Given the description of an element on the screen output the (x, y) to click on. 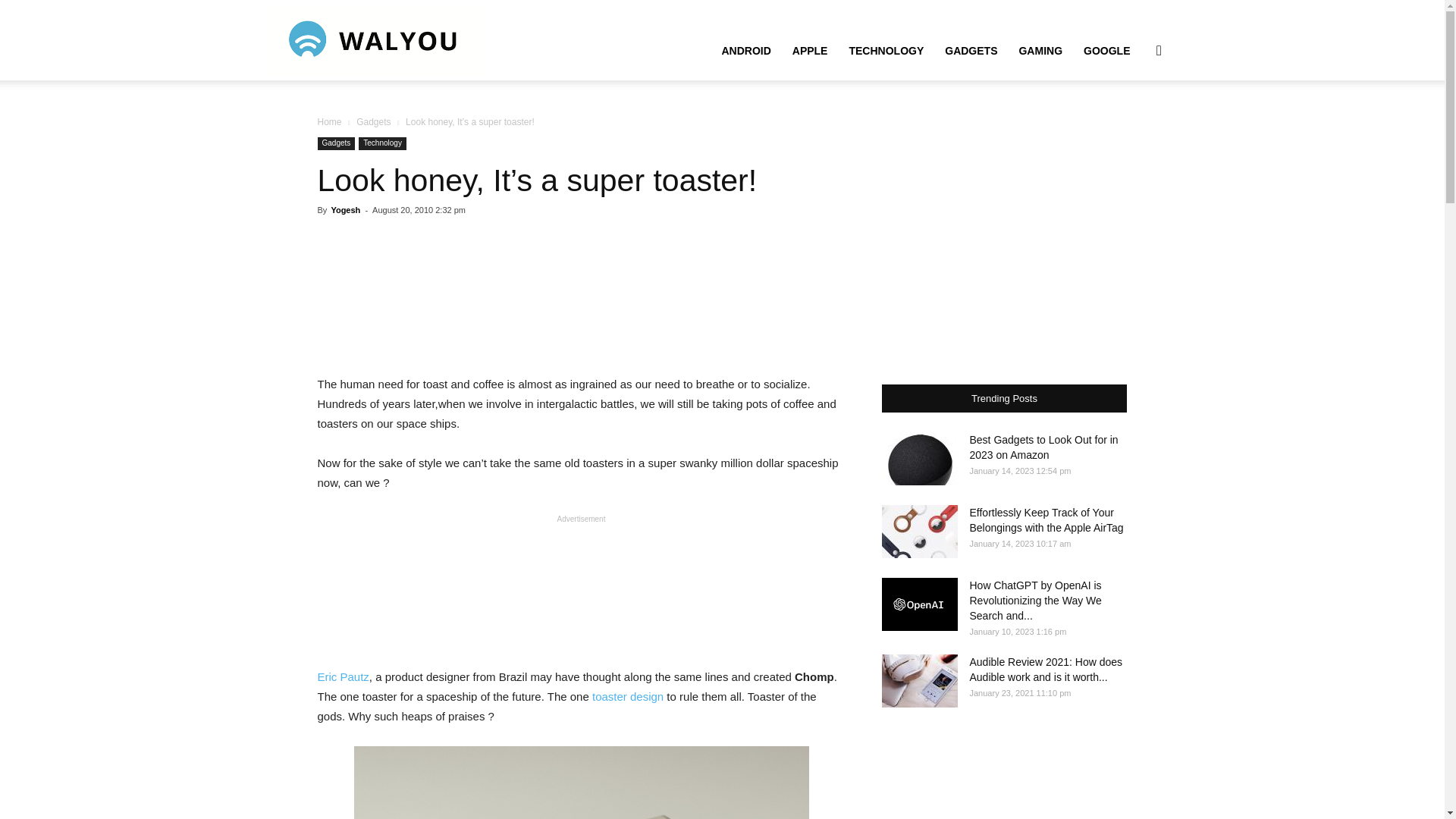
APPLE (809, 50)
Walyou (373, 40)
Gadgets (336, 143)
Yogesh (344, 209)
Search (1134, 122)
GADGETS (970, 50)
Gadgets (373, 122)
Advertisement (580, 588)
Technology (382, 143)
TECHNOLOGY (886, 50)
